Given the description of an element on the screen output the (x, y) to click on. 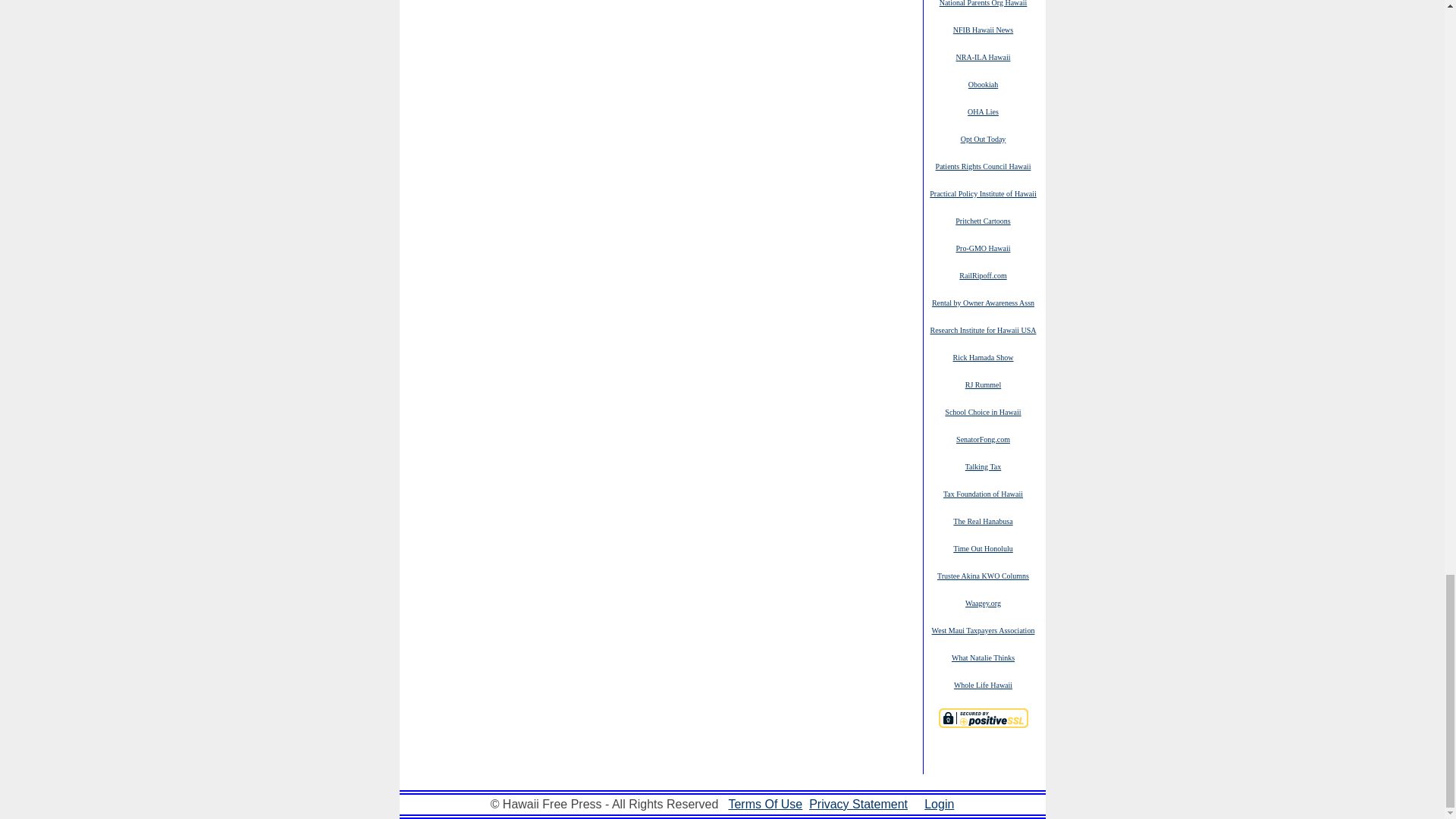
Login (938, 803)
